Given the description of an element on the screen output the (x, y) to click on. 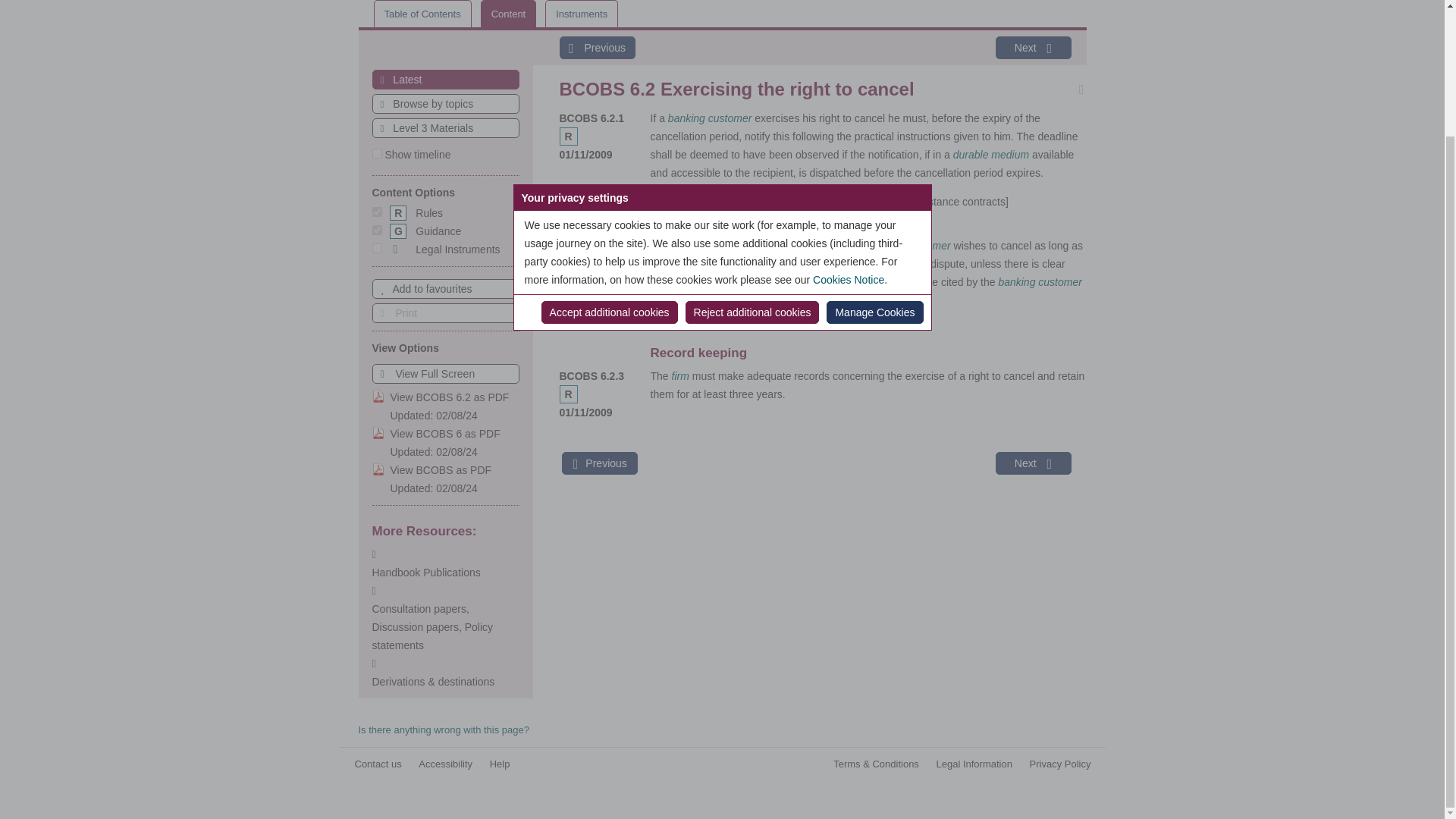
Instruments (580, 13)
Table of Contents (421, 13)
print (444, 312)
Add to favourites (444, 288)
Toggle Rules on and off (416, 213)
Browse by topics (445, 104)
true (376, 153)
guidance table-guide (376, 230)
Navigate one page backwards (596, 47)
legal (376, 248)
